Given the description of an element on the screen output the (x, y) to click on. 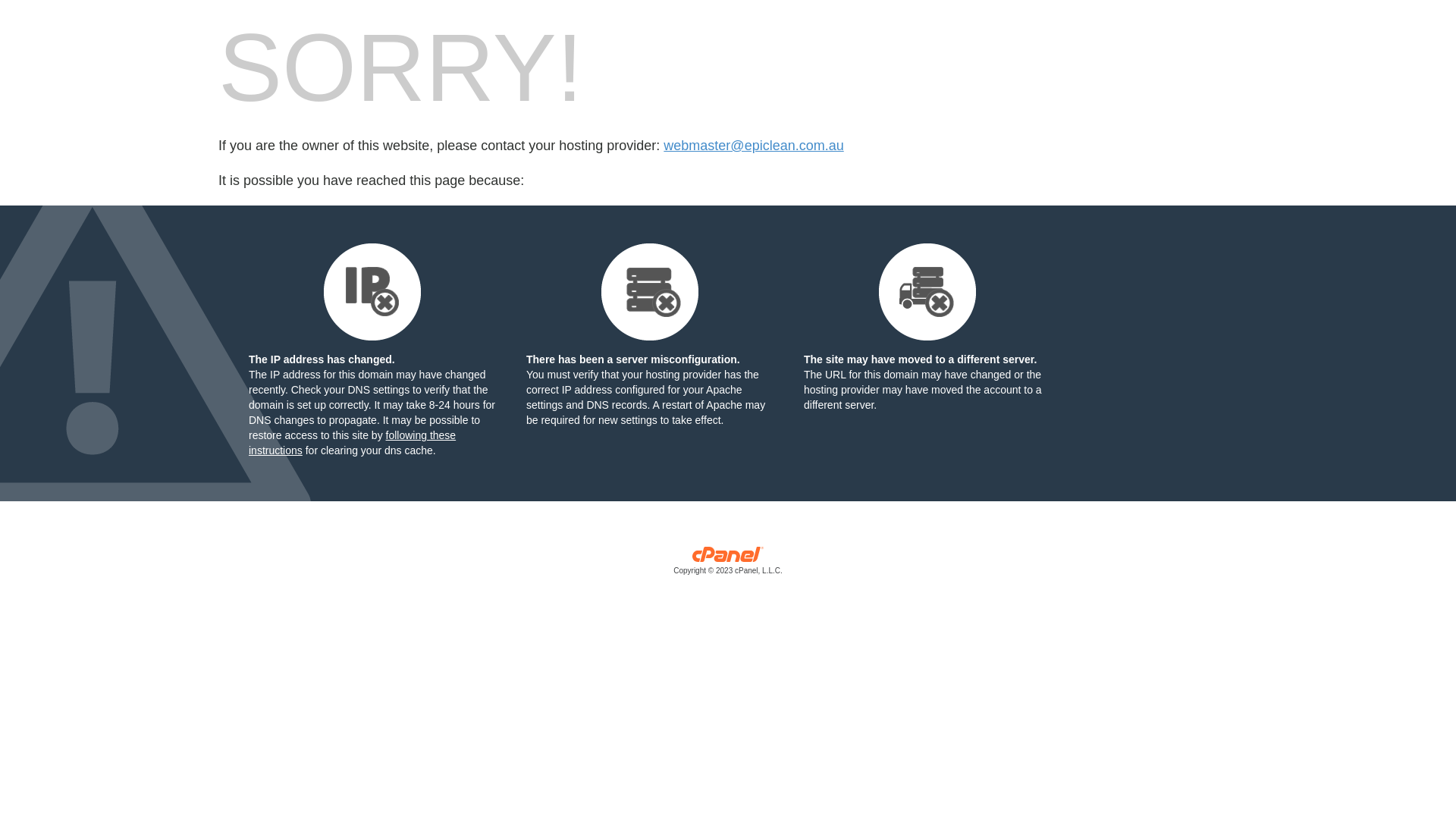
following these instructions Element type: text (351, 442)
webmaster@epiclean.com.au Element type: text (753, 145)
